Given the description of an element on the screen output the (x, y) to click on. 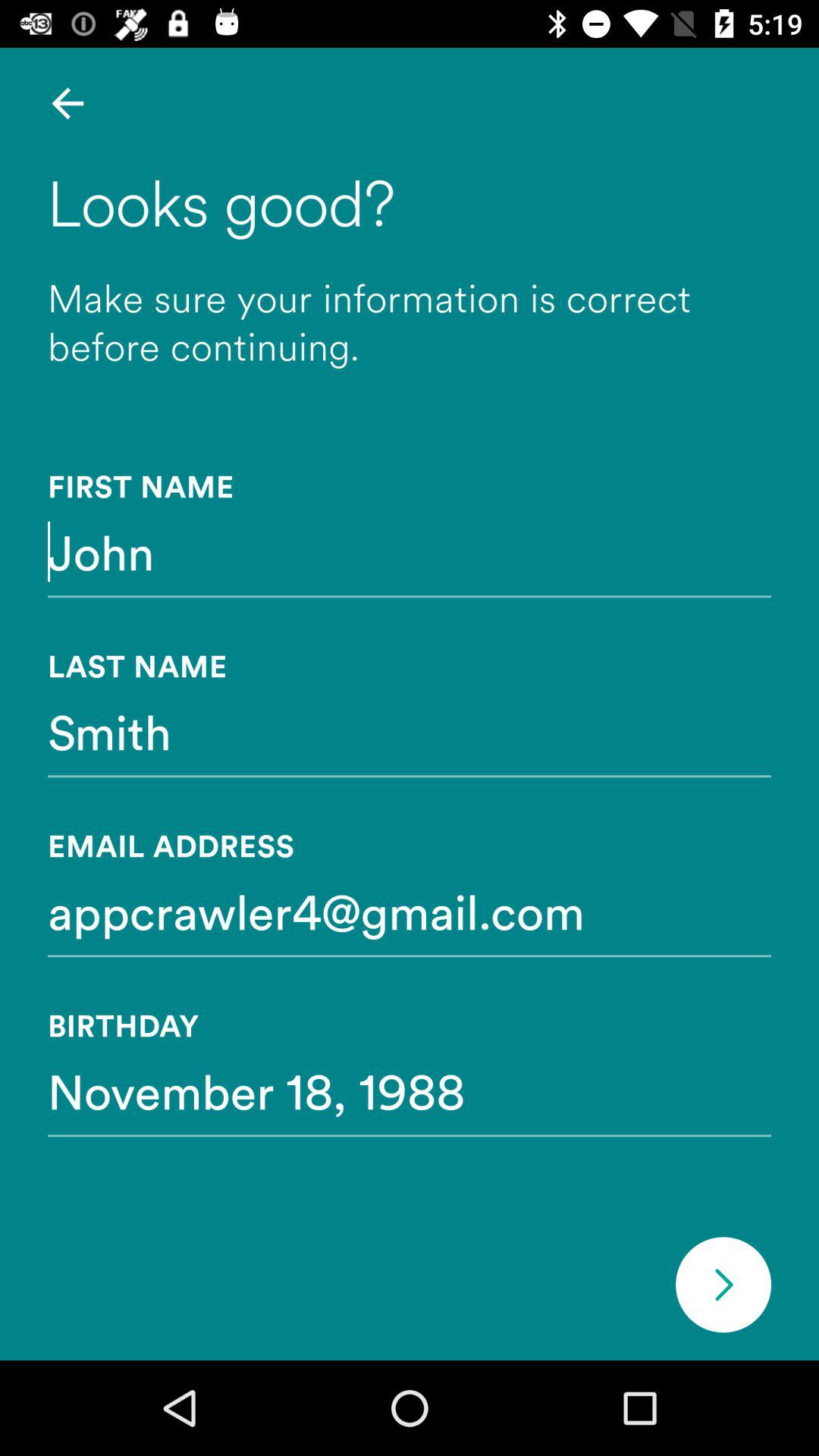
swipe to appcrawler4@gmail.com item (409, 911)
